Given the description of an element on the screen output the (x, y) to click on. 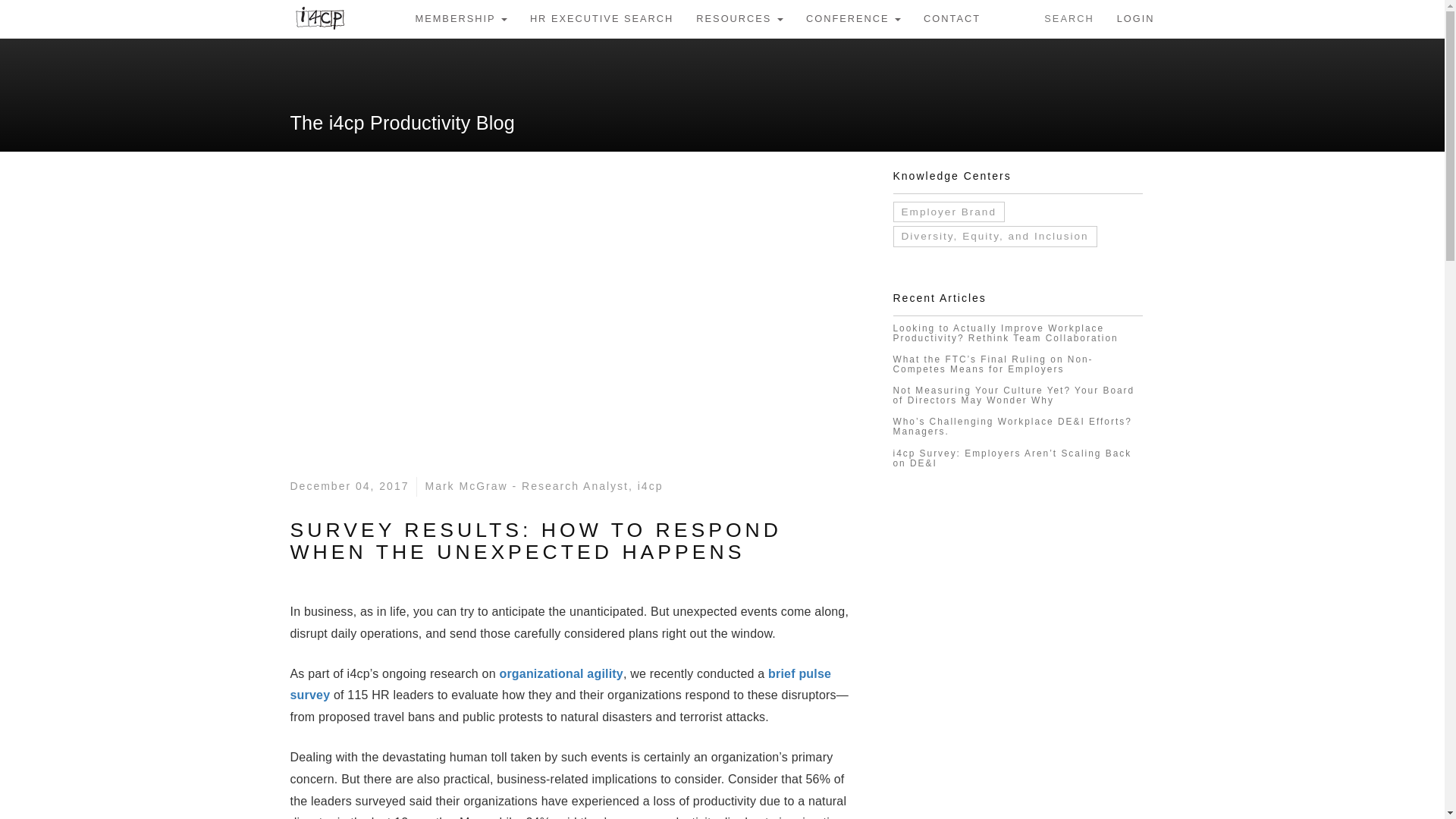
CONFERENCE (853, 18)
LOGIN (1135, 18)
brief pulse survey (560, 684)
organizational agility (561, 673)
CONTACT (951, 18)
RESOURCES (739, 18)
SEARCH (1068, 18)
HR EXECUTIVE SEARCH (601, 18)
MEMBERSHIP (460, 18)
The i4cp Productivity Blog (401, 122)
